Given the description of an element on the screen output the (x, y) to click on. 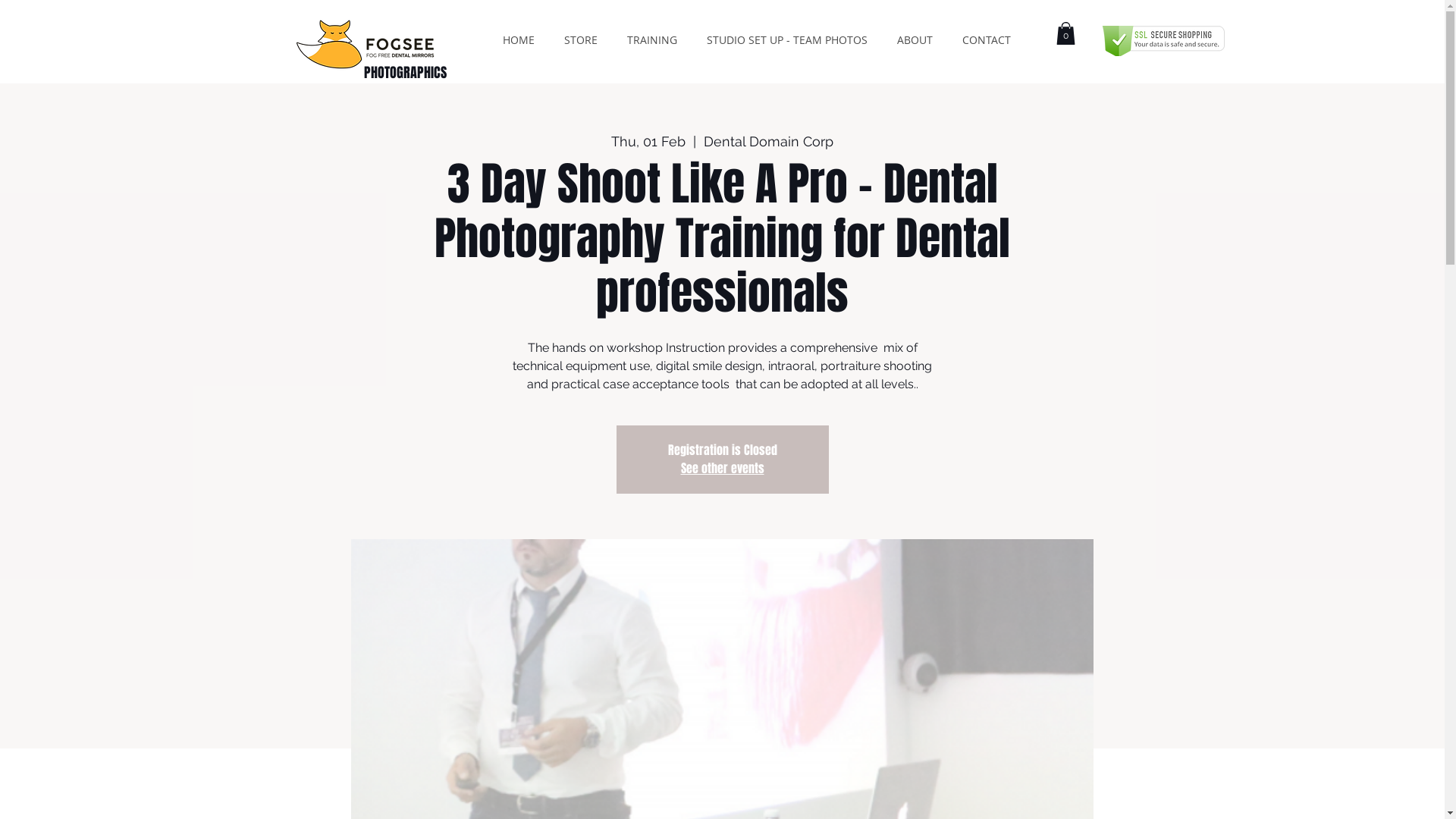
0 Element type: text (1064, 32)
security-seal-2x.png Element type: hover (1162, 40)
STORE Element type: text (580, 39)
HOME Element type: text (517, 39)
TRAINING Element type: text (652, 39)
STUDIO SET UP - TEAM PHOTOS Element type: text (786, 39)
CONTACT Element type: text (986, 39)
Logo_FogSee-Outline-DarkText.png Element type: hover (378, 43)
See other events Element type: text (722, 467)
ABOUT Element type: text (914, 39)
